Given the description of an element on the screen output the (x, y) to click on. 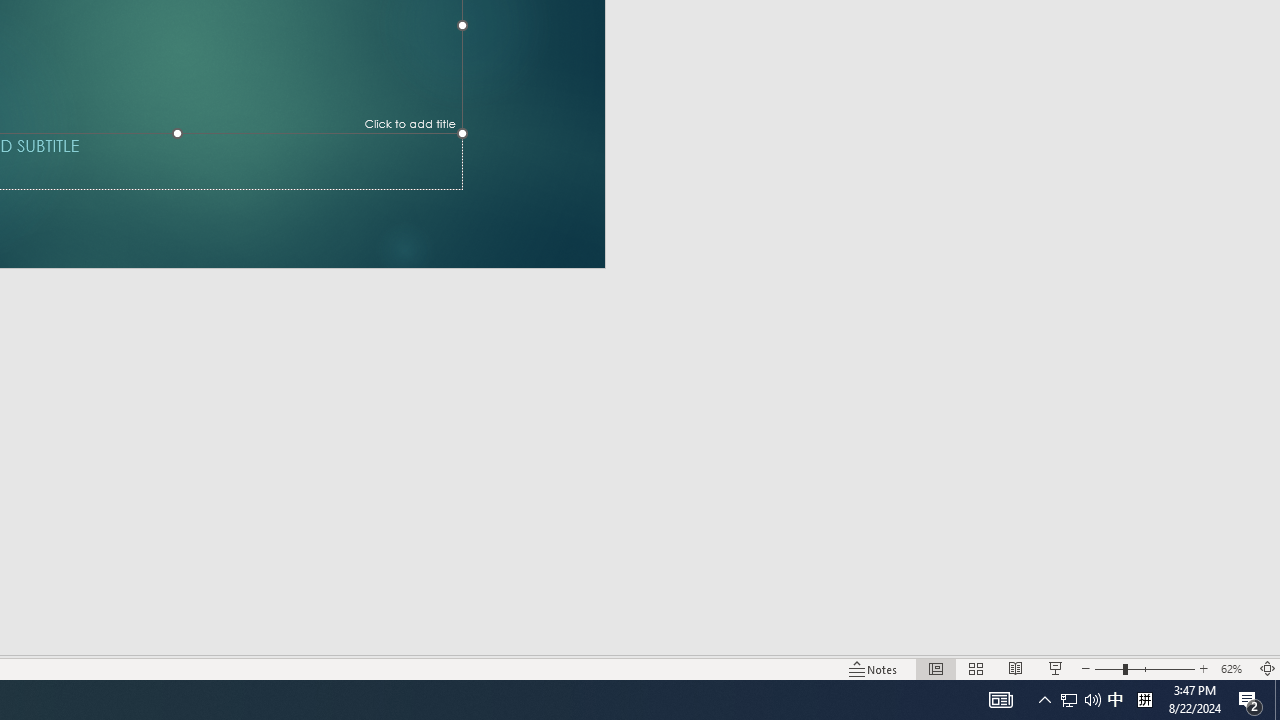
Zoom 62% (1234, 668)
